Given the description of an element on the screen output the (x, y) to click on. 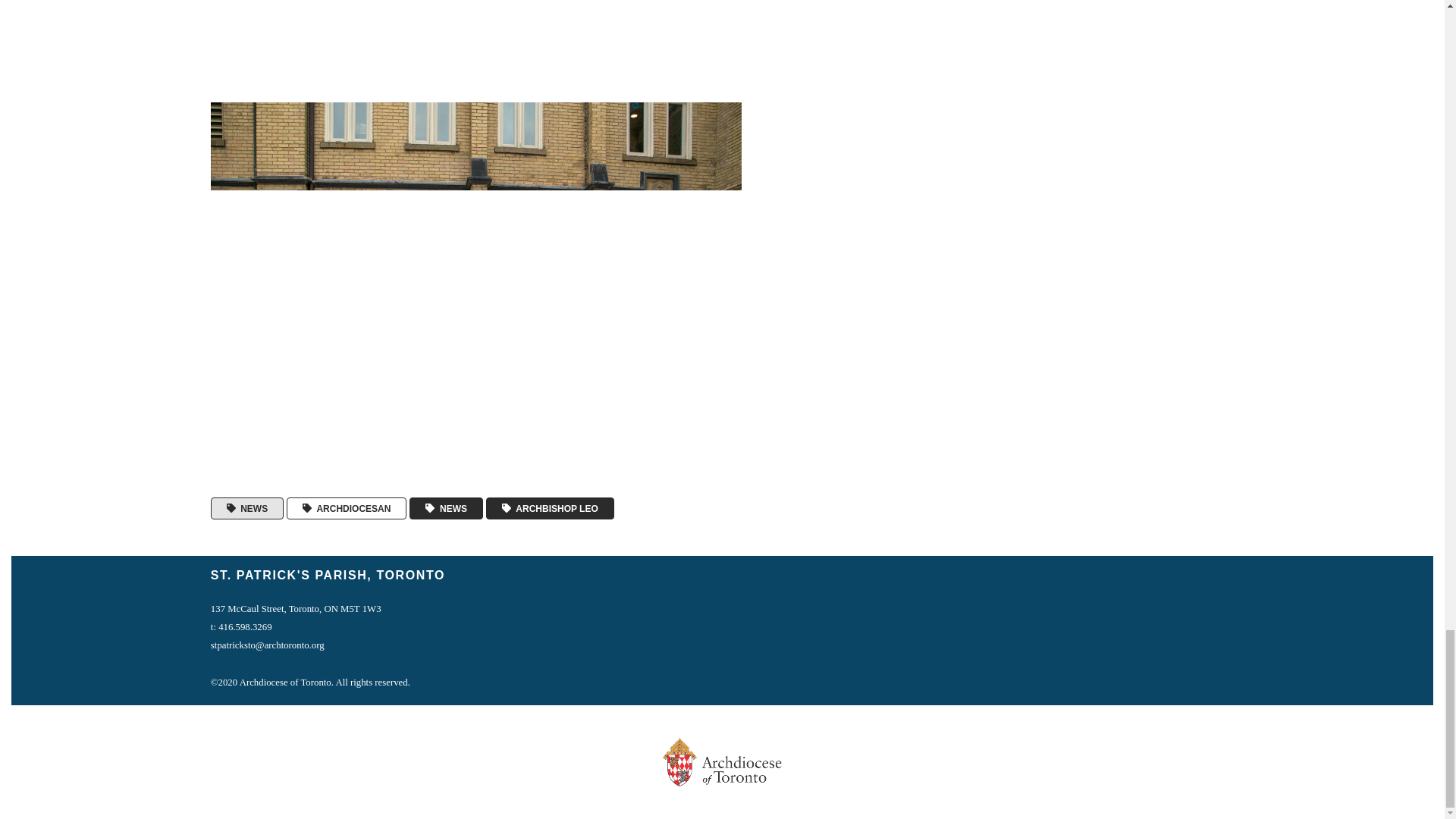
Archbishop Leo Visits Our Lady of Lourdes Parish (476, 45)
News (446, 508)
News (247, 508)
Archdiocese of Toronto (346, 508)
